Given the description of an element on the screen output the (x, y) to click on. 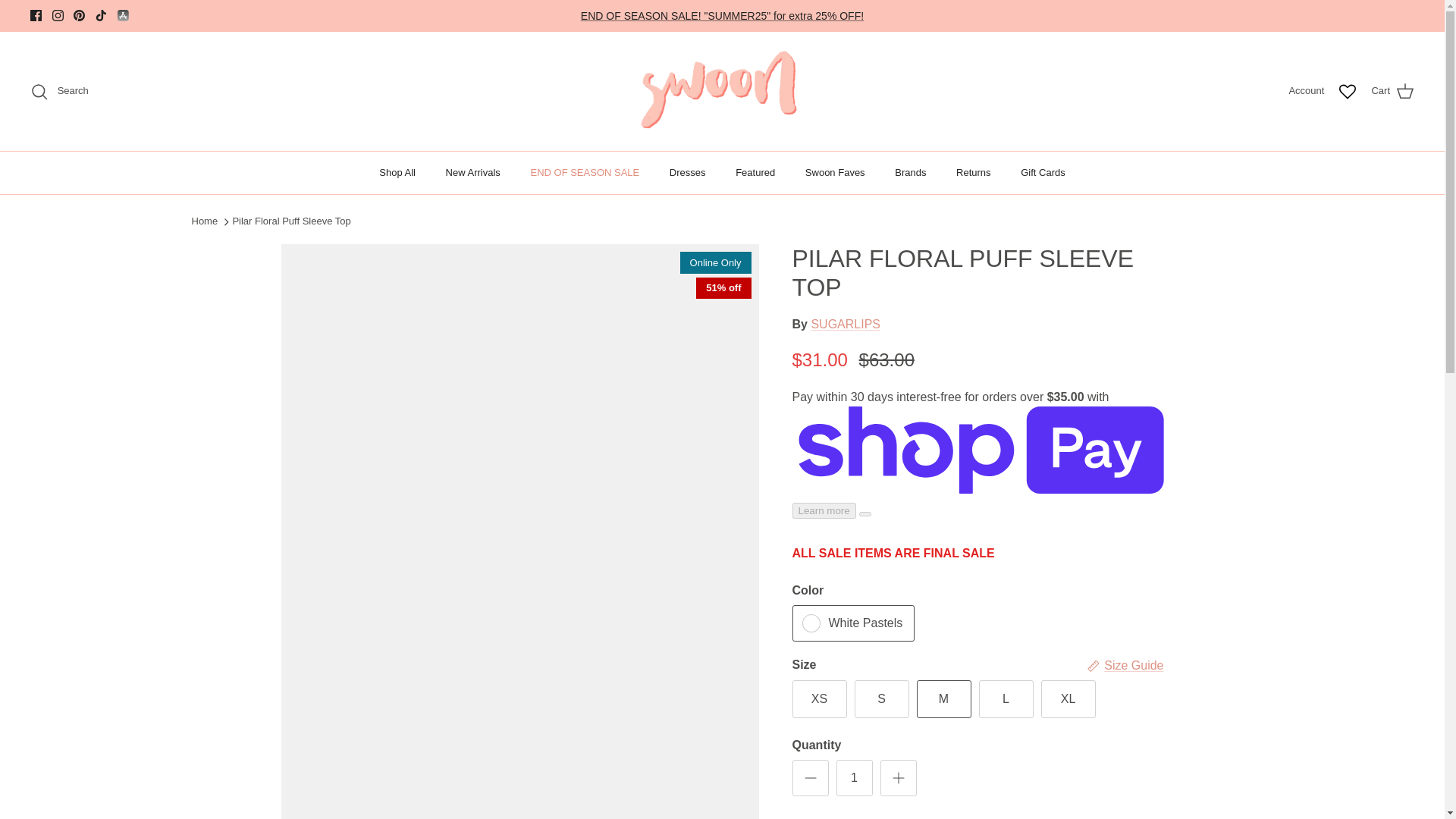
Pinterest (79, 15)
SALE (721, 15)
Instagram (58, 15)
Facebook (36, 15)
1 (853, 778)
Plus (897, 778)
Account (1305, 91)
Search (59, 91)
Facebook (36, 15)
Instagram (58, 15)
